Given the description of an element on the screen output the (x, y) to click on. 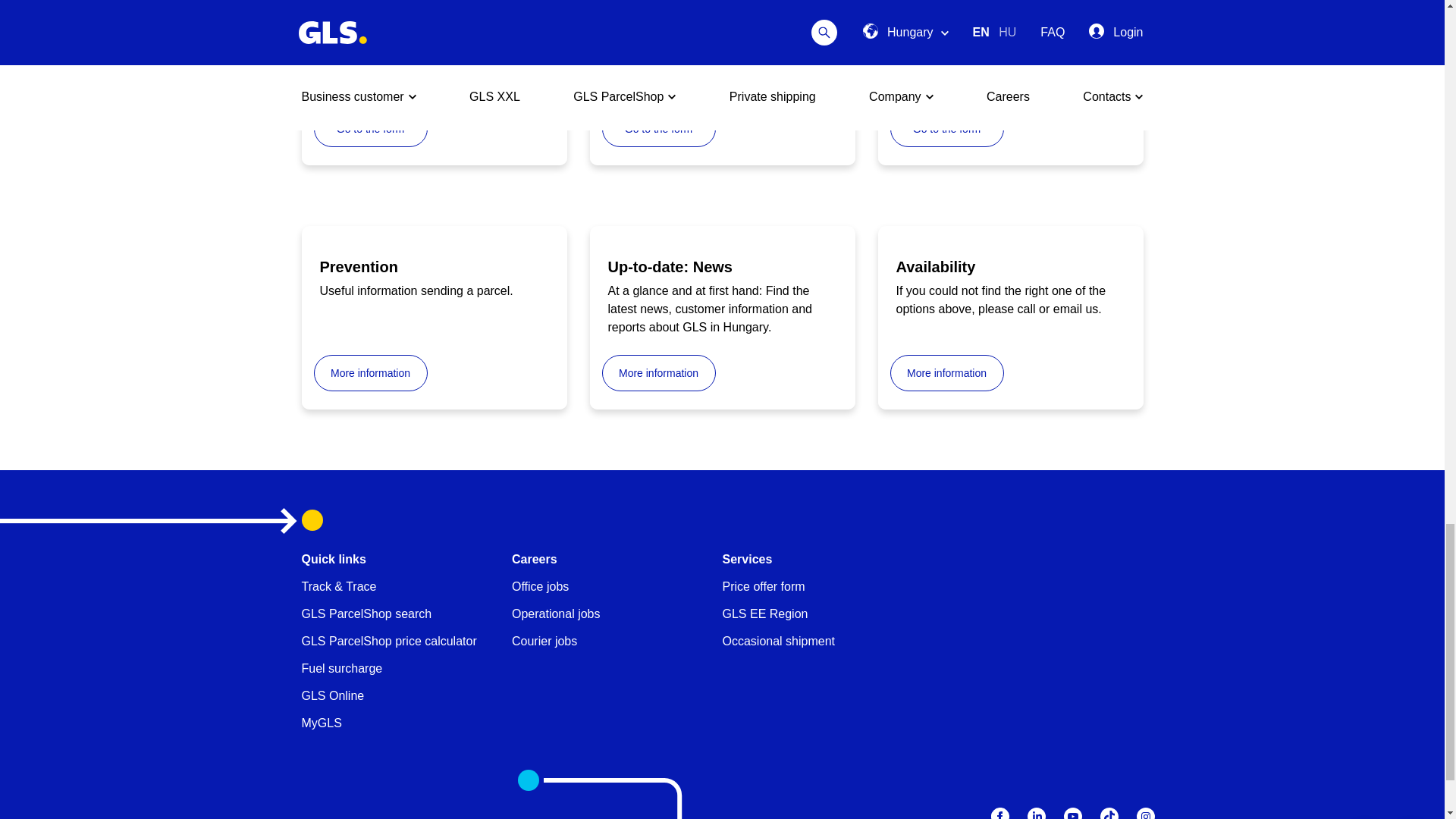
GLS Hungary LinkedIn (1035, 812)
GLS Hungary Instagram (1144, 812)
facebook (999, 812)
GLS Hungary YouTube (1071, 812)
GLS Hungary TikTok (1108, 812)
